Given the description of an element on the screen output the (x, y) to click on. 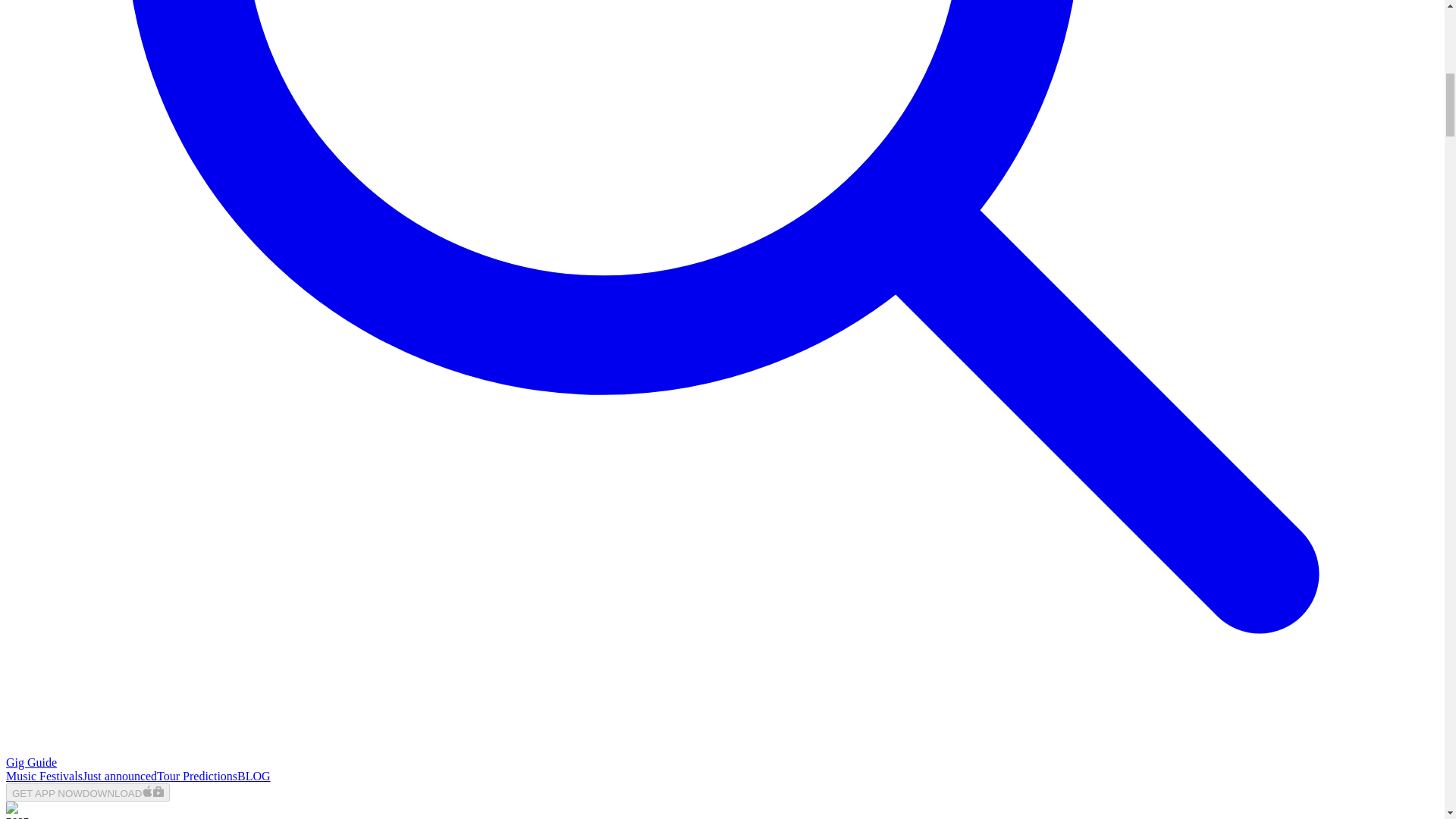
BLOG (253, 775)
Just announced (119, 775)
GET APP NOWDOWNLOAD (87, 791)
Tour Predictions (197, 775)
Gig Guide (30, 762)
Music Festivals (43, 775)
